Given the description of an element on the screen output the (x, y) to click on. 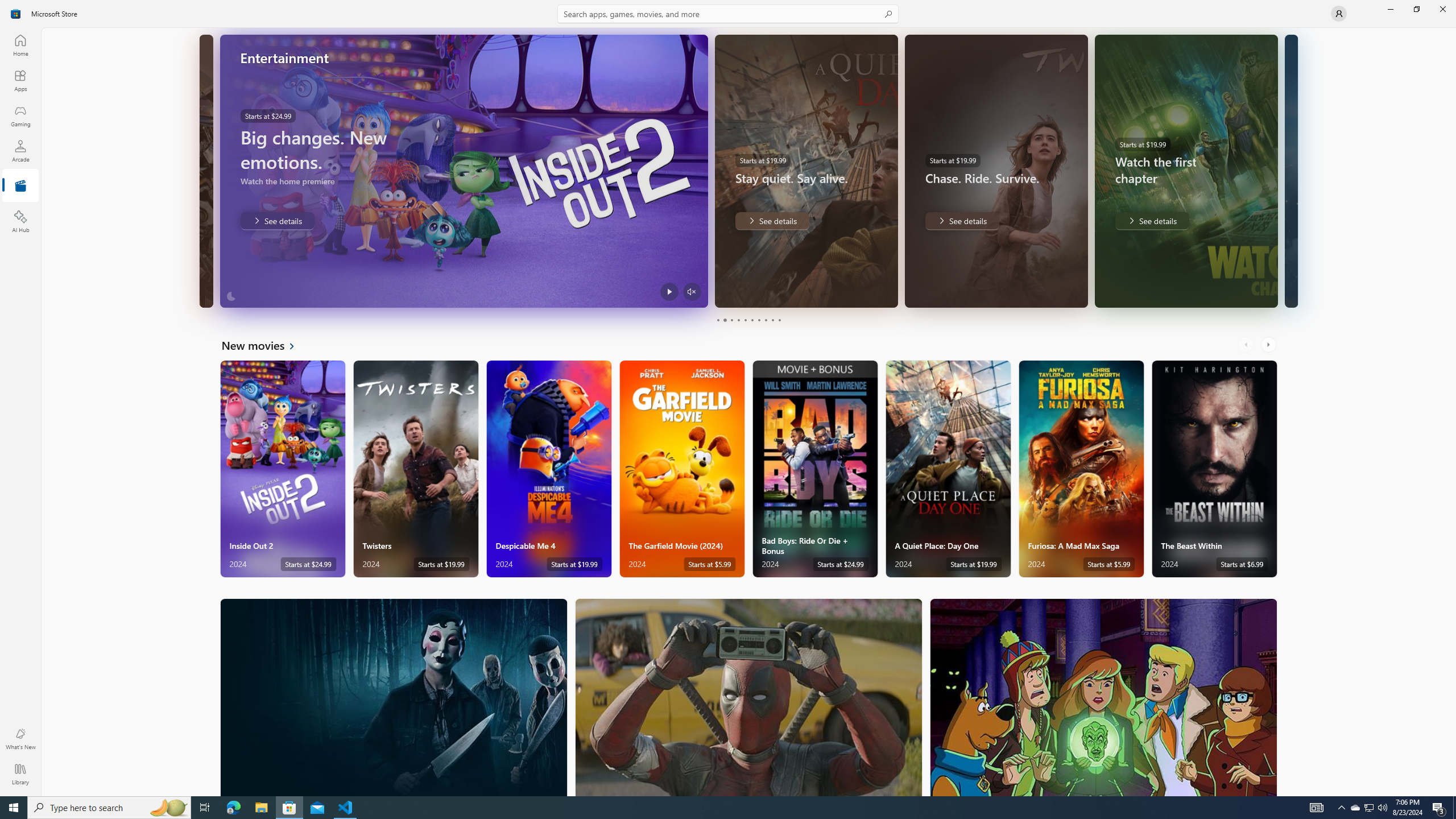
See all  New movies (264, 345)
Page 5 (744, 319)
Minimize Microsoft Store (1390, 9)
AI Hub (20, 221)
AutomationID: LeftScrollButton (1246, 344)
Close Microsoft Store (1442, 9)
Library (20, 773)
Page 1 (717, 319)
Page 3 (731, 319)
Apps (20, 80)
Gaming (20, 115)
Restore Microsoft Store (1416, 9)
AutomationID: RightScrollButton (1269, 344)
